Given the description of an element on the screen output the (x, y) to click on. 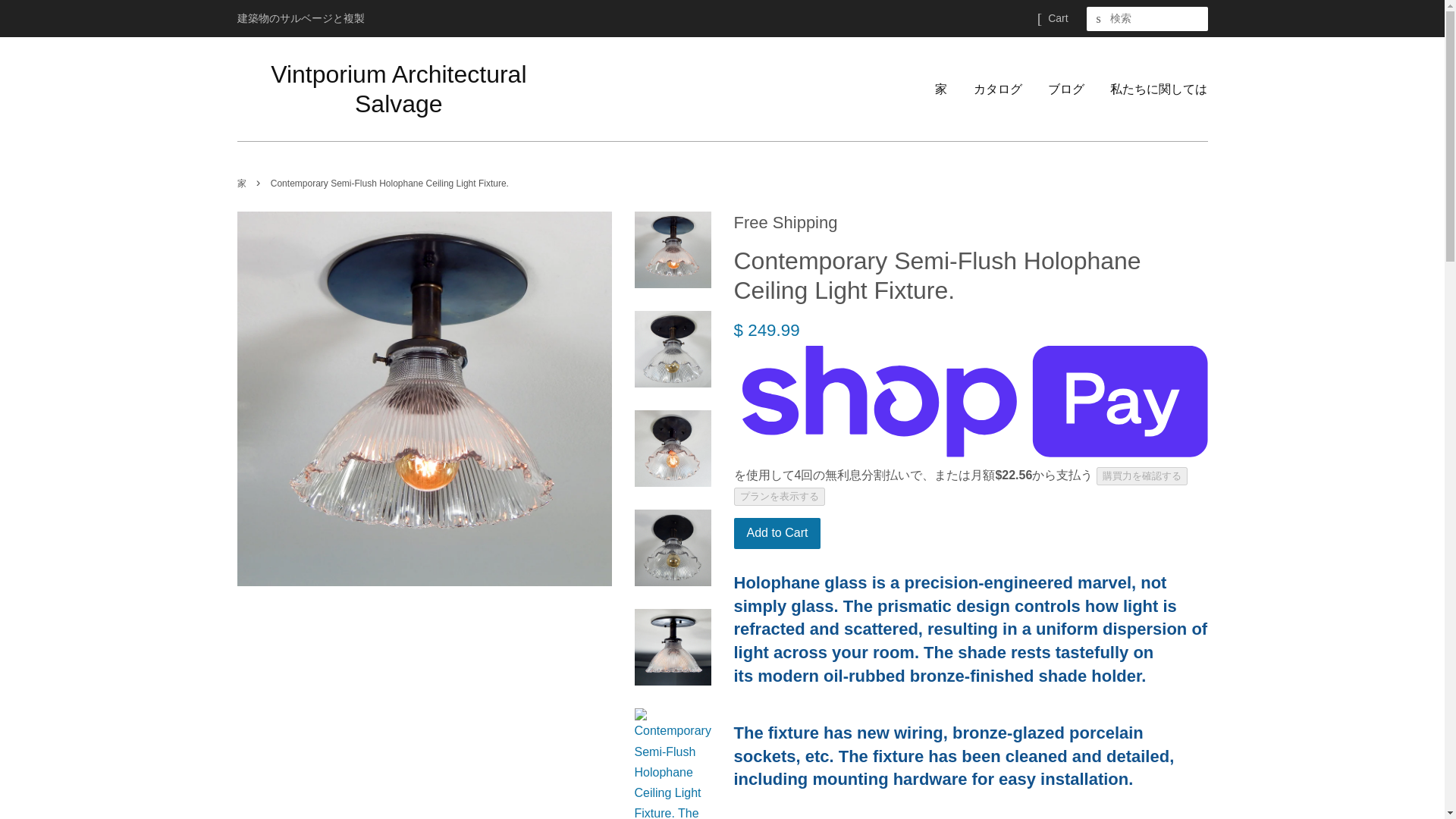
Cart (1057, 18)
Add to Cart (777, 532)
Vintporium Architectural Salvage (397, 88)
